Given the description of an element on the screen output the (x, y) to click on. 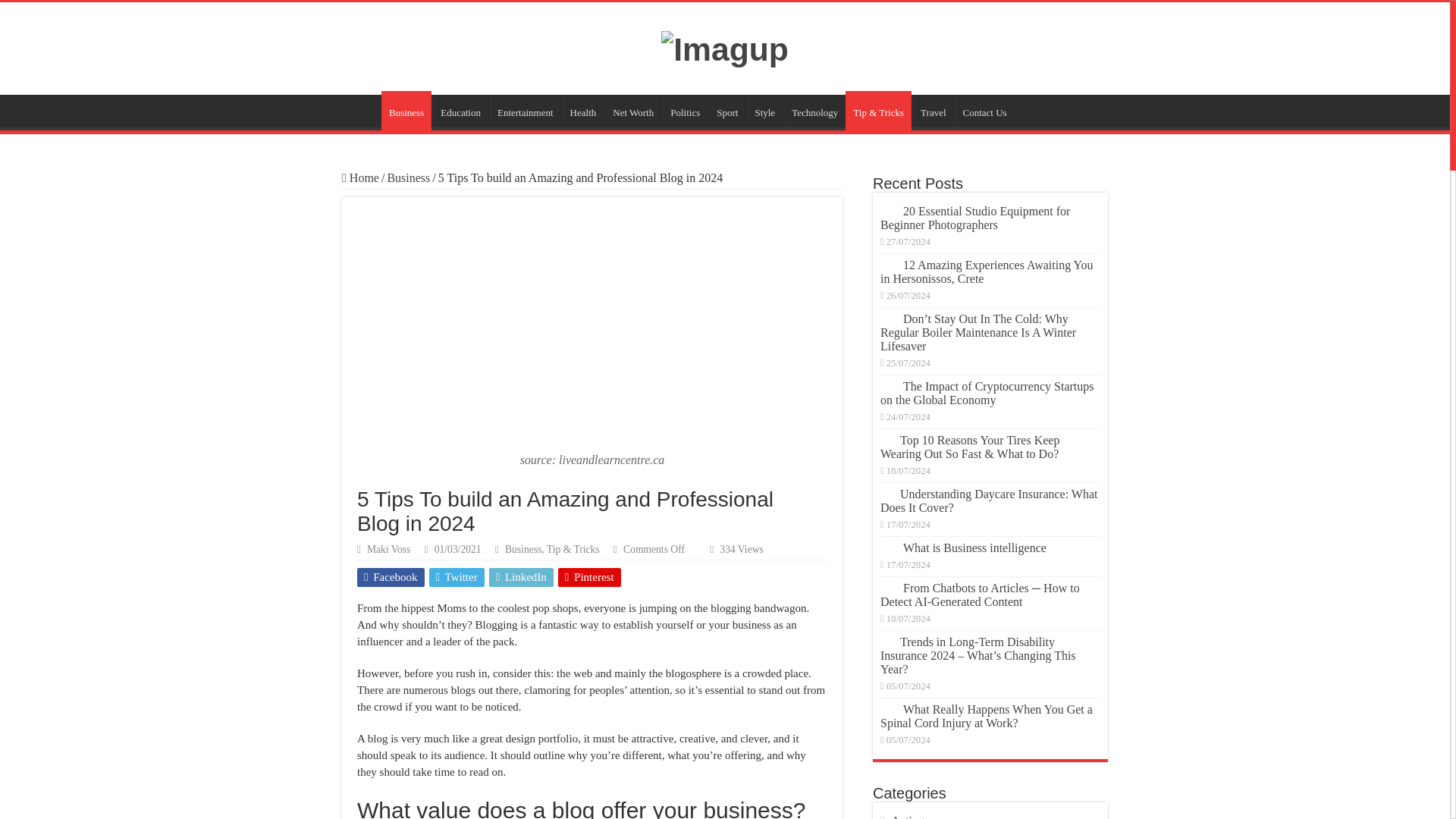
Home (361, 110)
Twitter (456, 577)
Health (583, 110)
Business (408, 177)
Imagup (725, 46)
Politics (684, 110)
Home (360, 177)
Sport (726, 110)
Travel (932, 110)
Business (523, 549)
Technology (814, 110)
Contact Us (984, 110)
Maki Voss (388, 549)
Facebook (390, 577)
LinkedIn (521, 577)
